Given the description of an element on the screen output the (x, y) to click on. 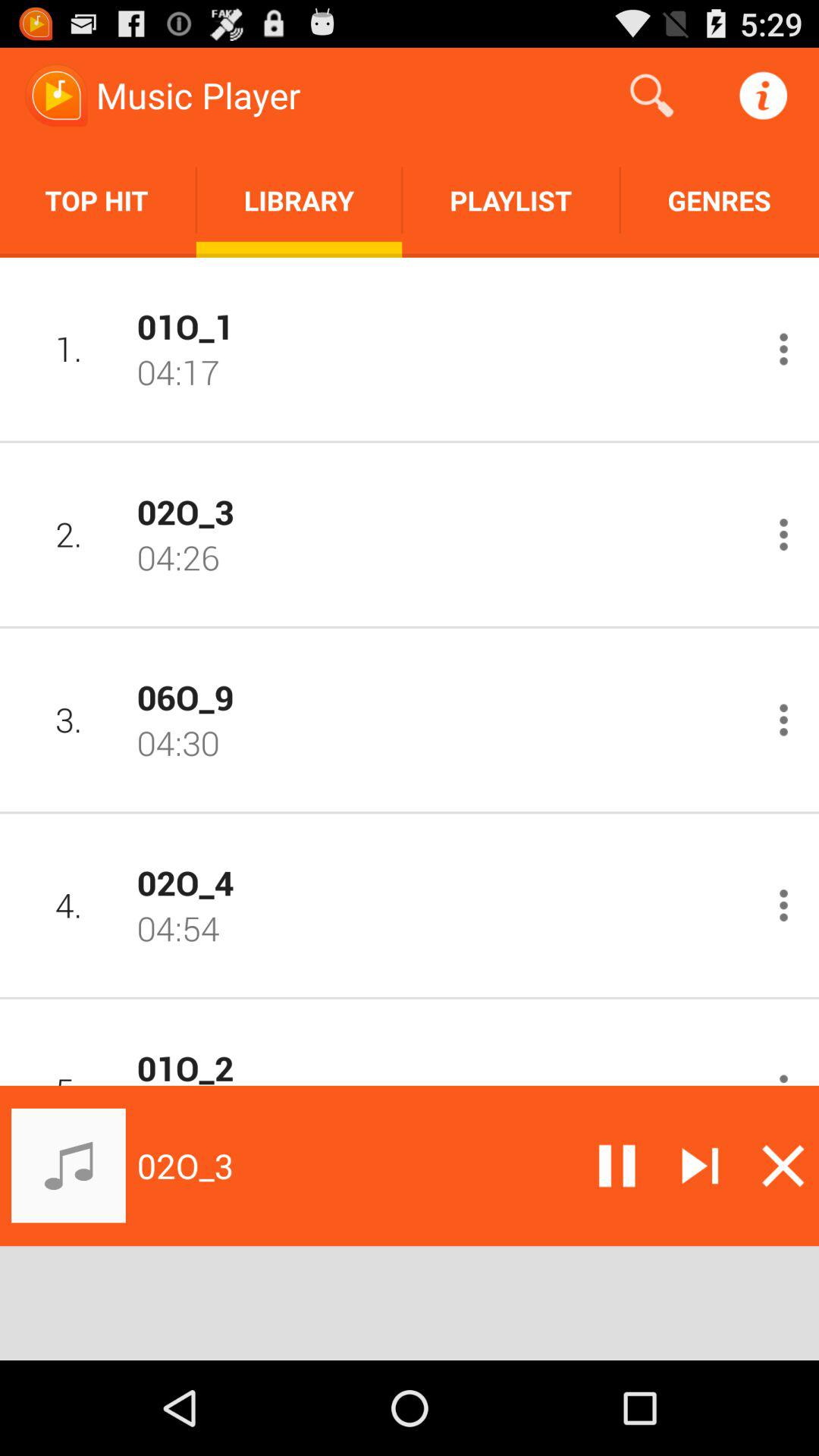
play next item (699, 1165)
